Given the description of an element on the screen output the (x, y) to click on. 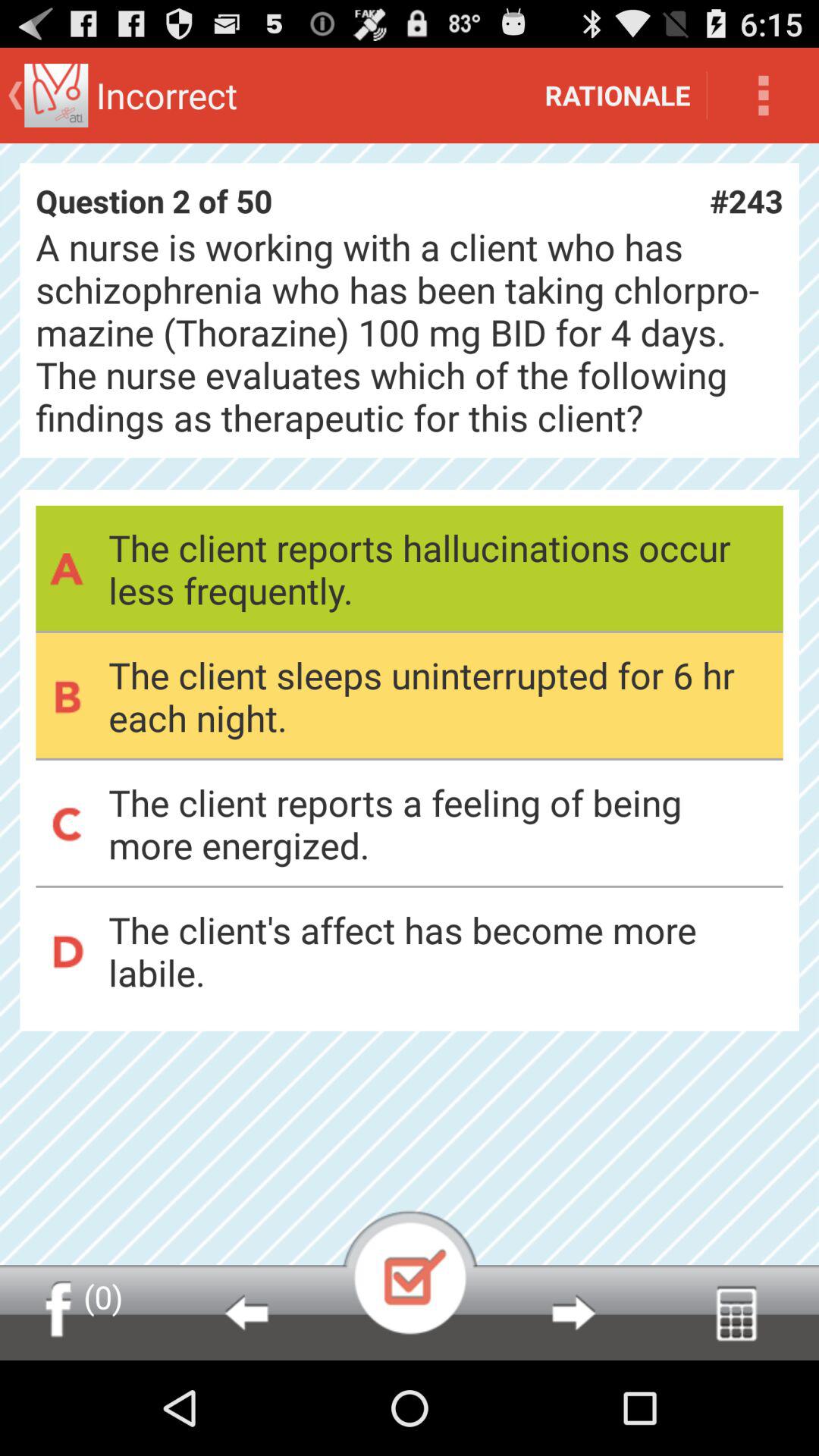
go to previous option (245, 1312)
